Given the description of an element on the screen output the (x, y) to click on. 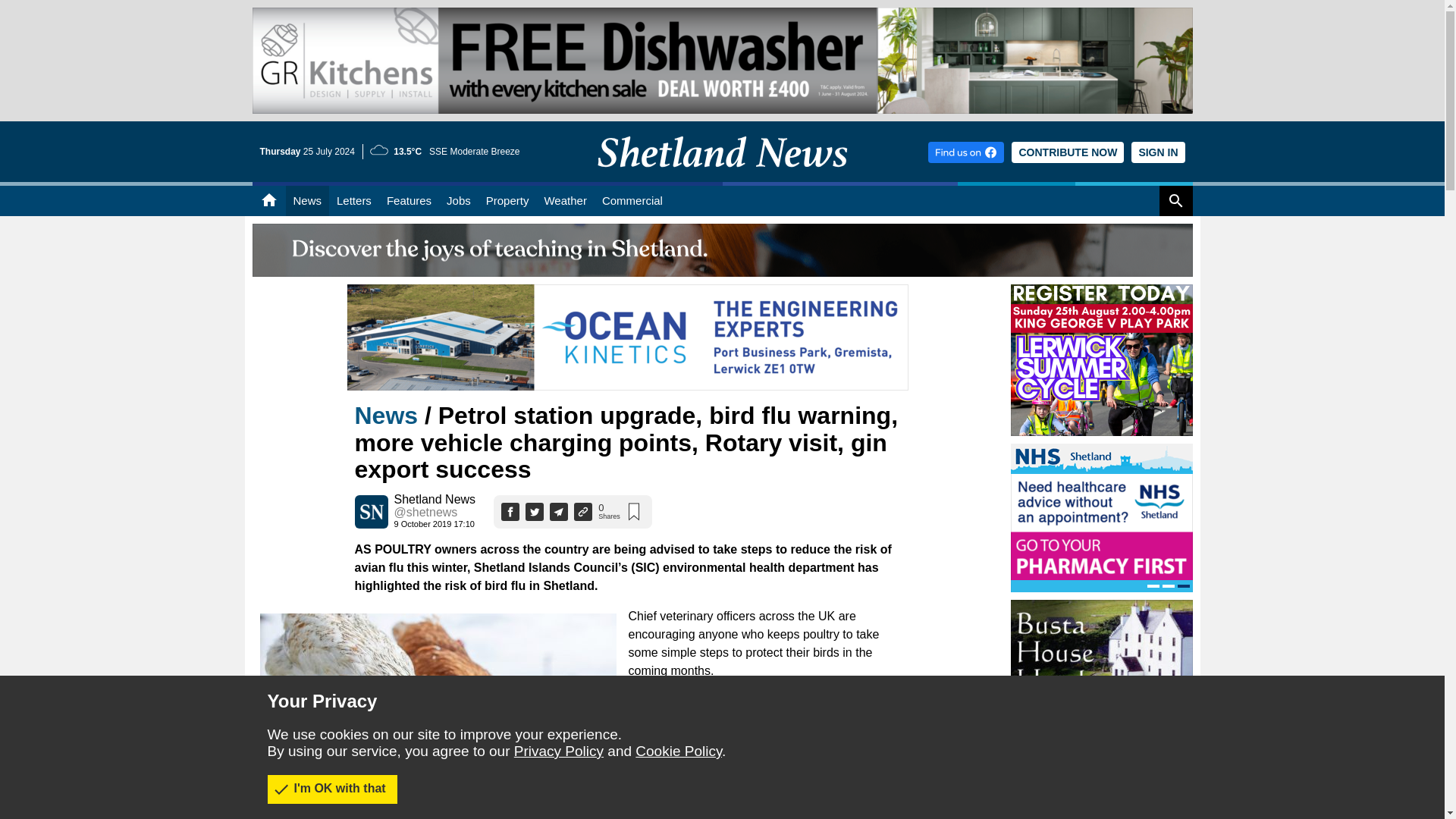
News (307, 200)
Home (268, 200)
G R Direct - Free Dishwasher Offer (721, 60)
Find us on Facebook (966, 151)
Shetland News Home (721, 177)
Support Shetland News (1067, 151)
SIGN IN (1158, 151)
News (307, 200)
CONTRIBUTE NOW (1067, 151)
Shetland News Login (1158, 151)
